Given the description of an element on the screen output the (x, y) to click on. 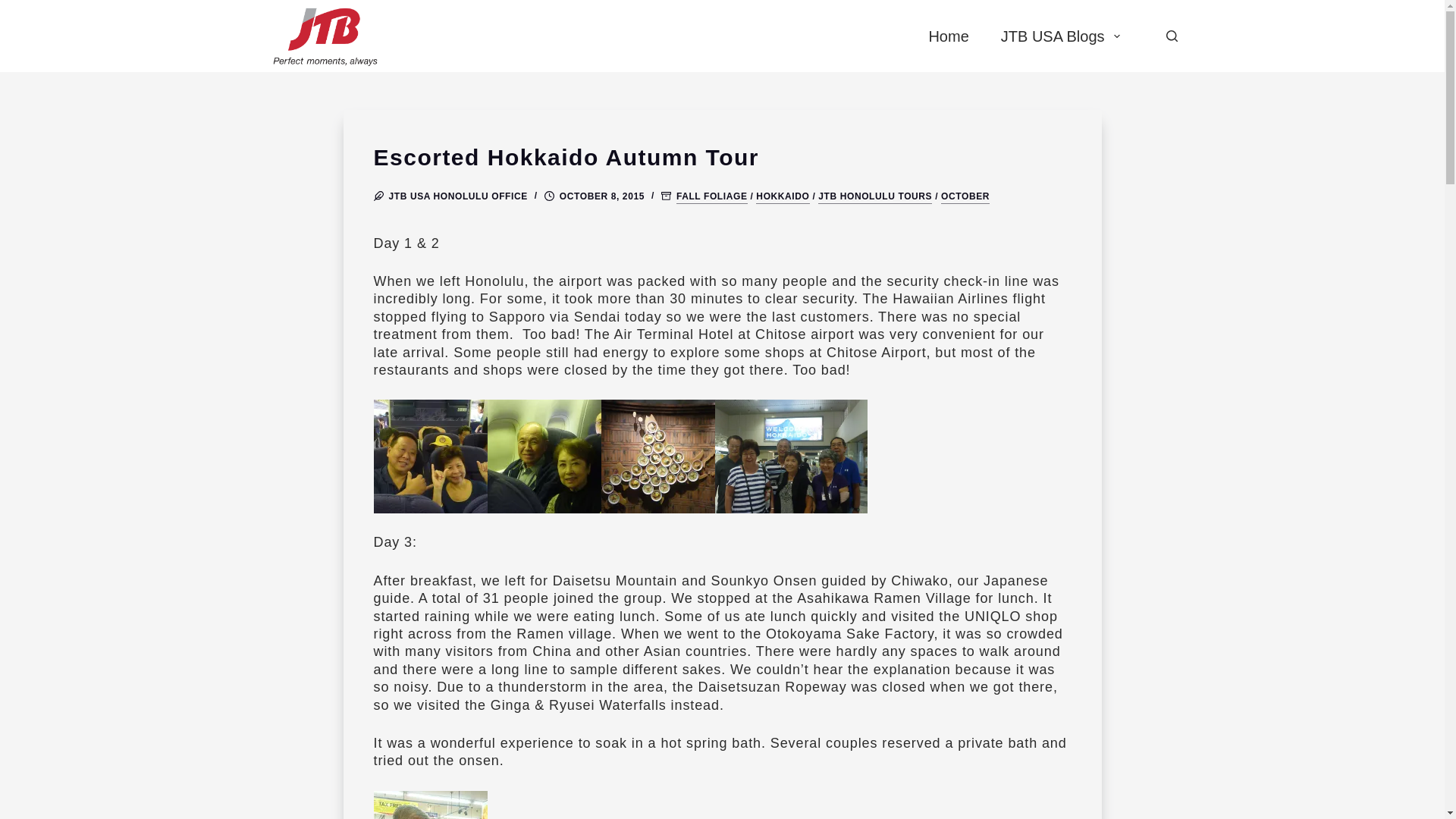
Home (948, 36)
Skip to content (15, 7)
JTB USA Blogs (1060, 36)
JTB USA HONOLULU OFFICE (457, 195)
Escorted Hokkaido Autumn Tour (721, 157)
Posts by JTB USA Honolulu Office (457, 195)
JTB HONOLULU TOURS (874, 196)
FALL FOLIAGE (712, 196)
HOKKAIDO (782, 196)
OCTOBER (965, 196)
